Given the description of an element on the screen output the (x, y) to click on. 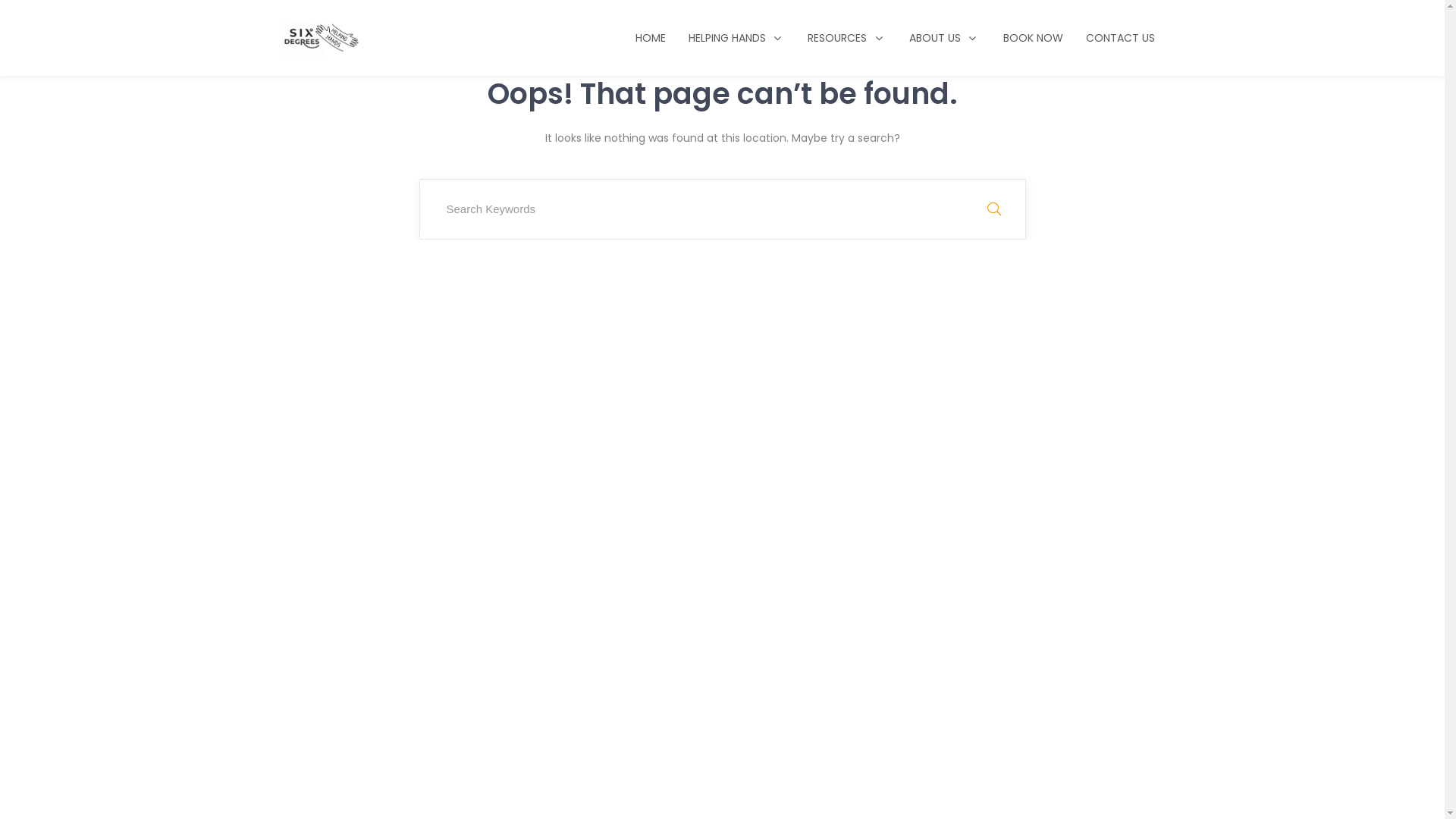
Search for: Element type: hover (721, 209)
SEARCH Element type: text (993, 209)
CONTACT US Element type: text (1119, 37)
RESOURCES Element type: text (846, 37)
BOOK NOW Element type: text (1032, 37)
HOME Element type: text (650, 37)
ABOUT US Element type: text (944, 37)
